Given the description of an element on the screen output the (x, y) to click on. 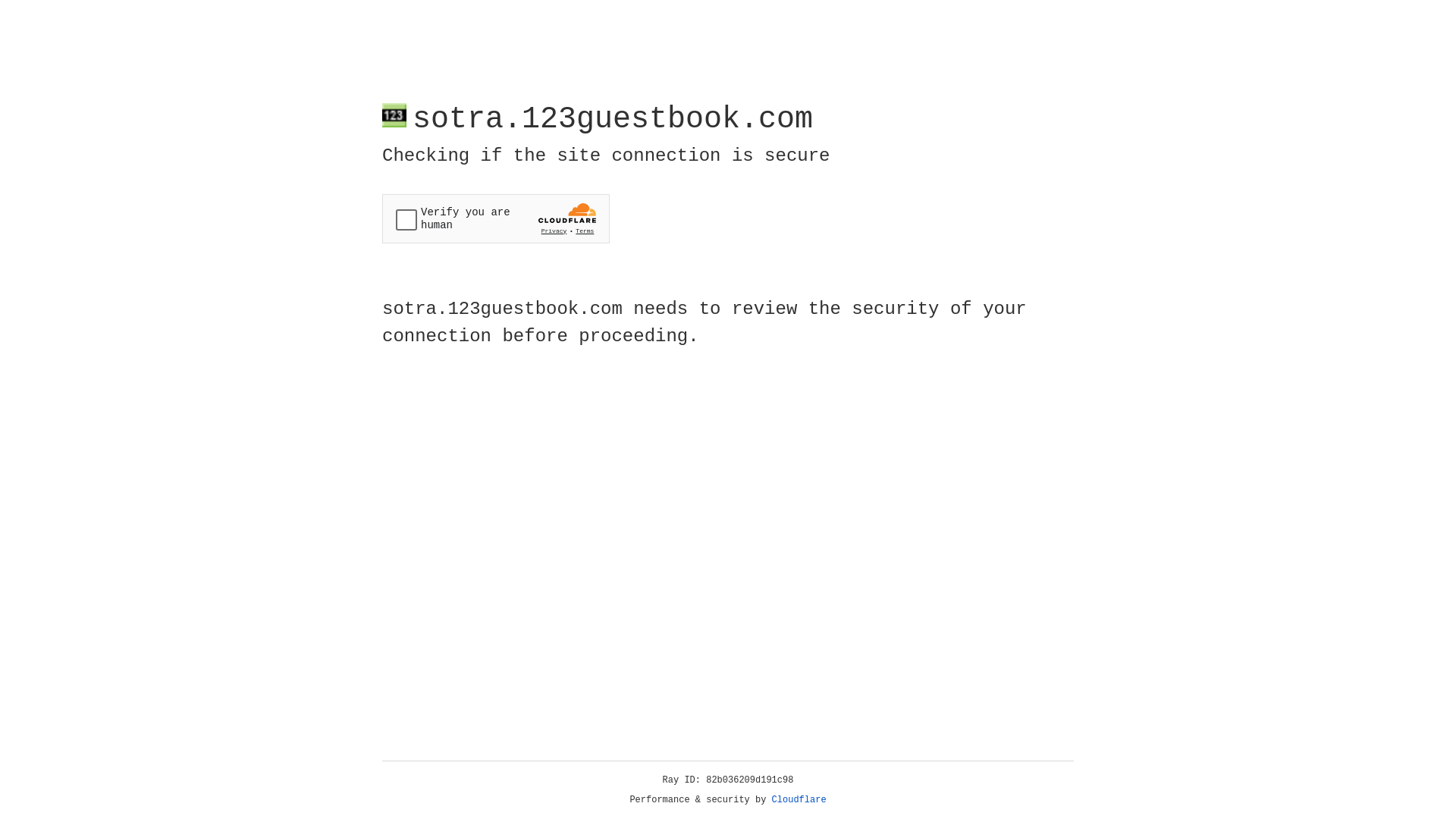
Widget containing a Cloudflare security challenge Element type: hover (495, 218)
Cloudflare Element type: text (798, 799)
